Given the description of an element on the screen output the (x, y) to click on. 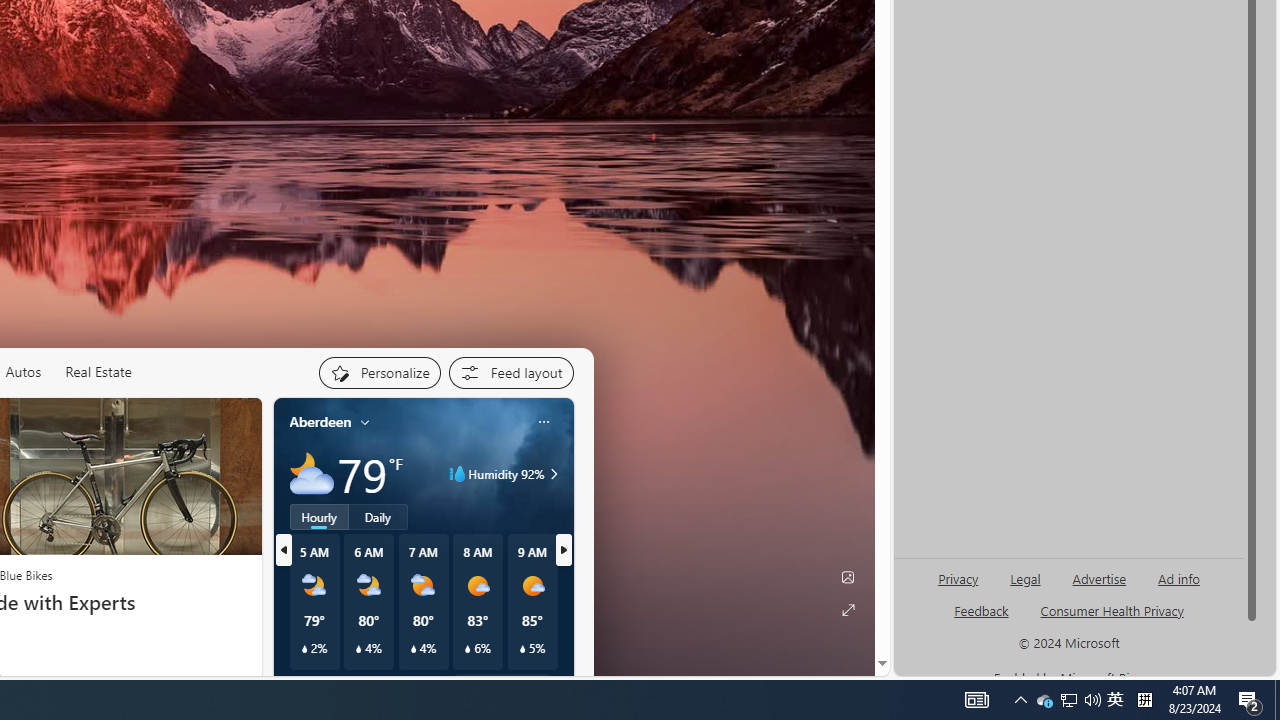
Aberdeen (320, 422)
My location (365, 421)
Edit Background (847, 577)
Autos (22, 371)
Class: icon-img (543, 421)
AutomationID: sb_feedback (980, 610)
Mostly cloudy (311, 474)
previous (283, 549)
